Given the description of an element on the screen output the (x, y) to click on. 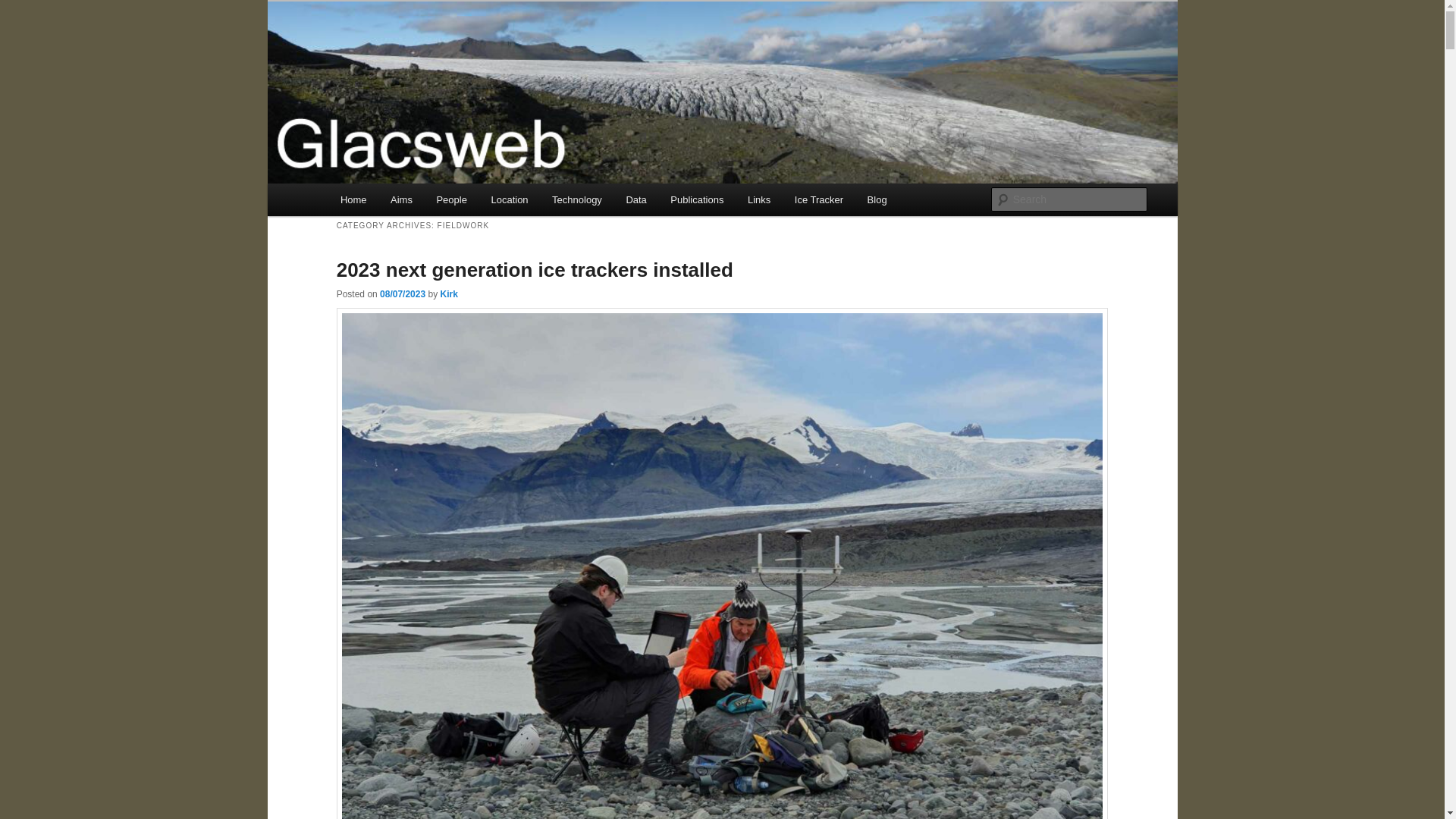
Data (636, 199)
Kirk (448, 294)
Publications (697, 199)
View all posts by Kirk (448, 294)
2023 next generation ice trackers installed (534, 269)
People (452, 199)
Aims (400, 199)
Glacsweb (389, 56)
21:00 (402, 294)
Home (353, 199)
Location (509, 199)
Ice Tracker (819, 199)
Technology (576, 199)
Search (24, 8)
